Given the description of an element on the screen output the (x, y) to click on. 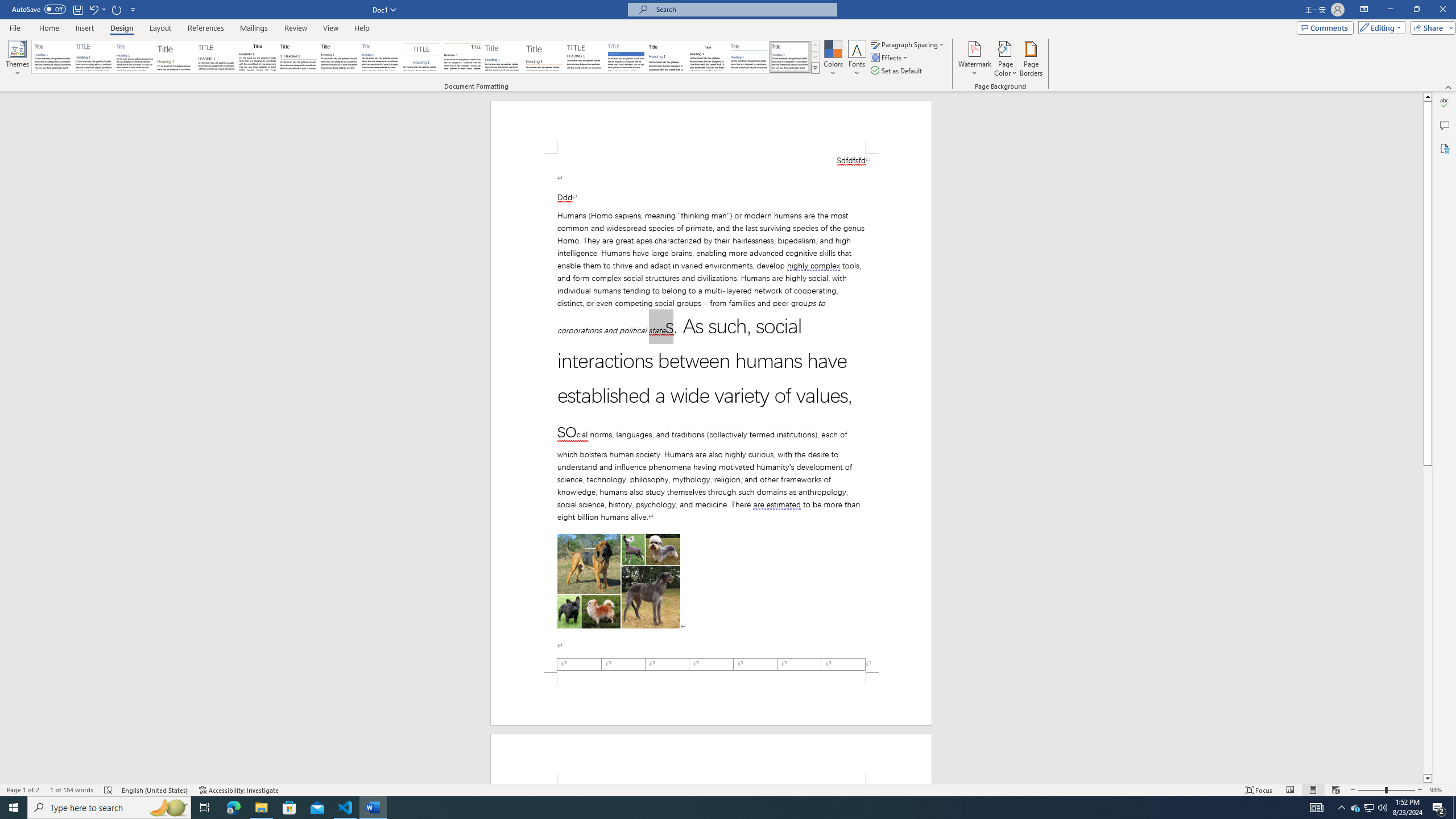
Centered (421, 56)
Zoom In (1420, 790)
Black & White (Capitalized) (216, 56)
Restore Down (1416, 9)
Basic (Elegant) (93, 56)
View (330, 28)
File Tab (15, 27)
Page 1 content (710, 412)
Paragraph Spacing (908, 44)
Undo Apply Quick Style Set (92, 9)
